Given the description of an element on the screen output the (x, y) to click on. 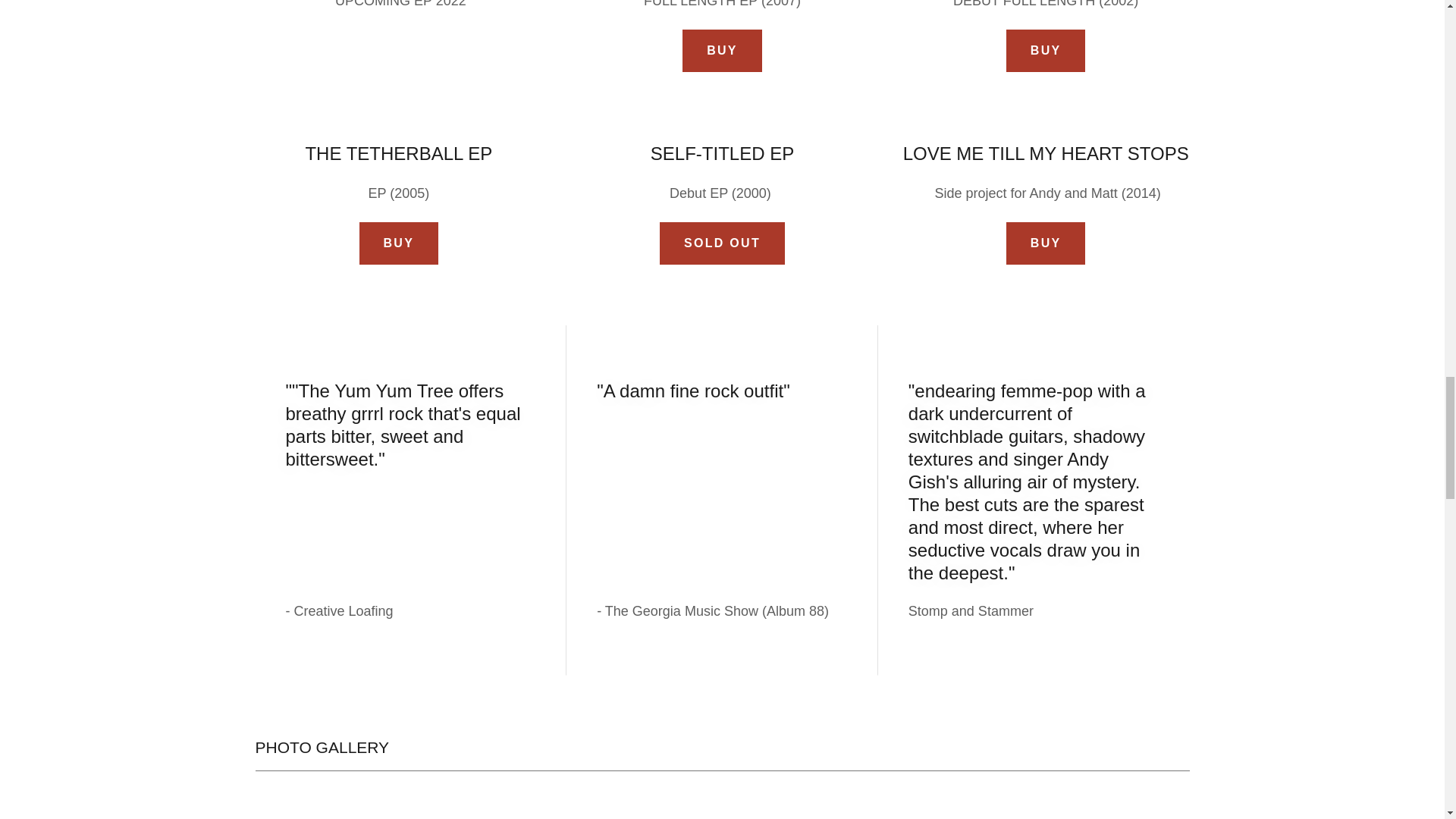
BUY (1046, 242)
BUY (399, 242)
SOLD OUT (721, 242)
BUY (1046, 50)
BUY (721, 50)
